Given the description of an element on the screen output the (x, y) to click on. 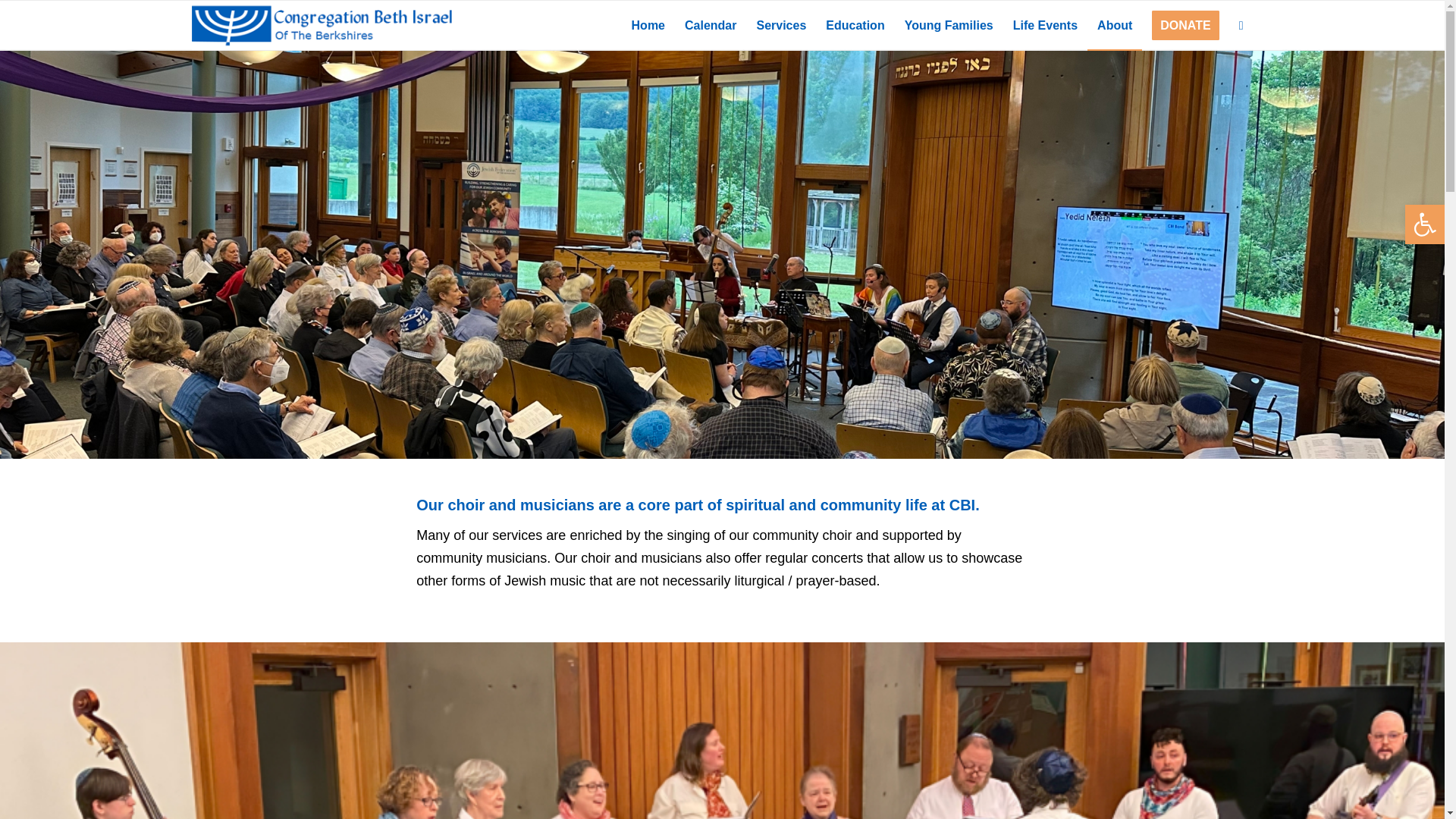
Accessibility Tools (1424, 224)
Services (780, 24)
Young Families (949, 24)
CBI-Logo-70h (320, 24)
Home (648, 24)
Calendar (710, 24)
Life Events (1045, 24)
Education (854, 24)
